Given the description of an element on the screen output the (x, y) to click on. 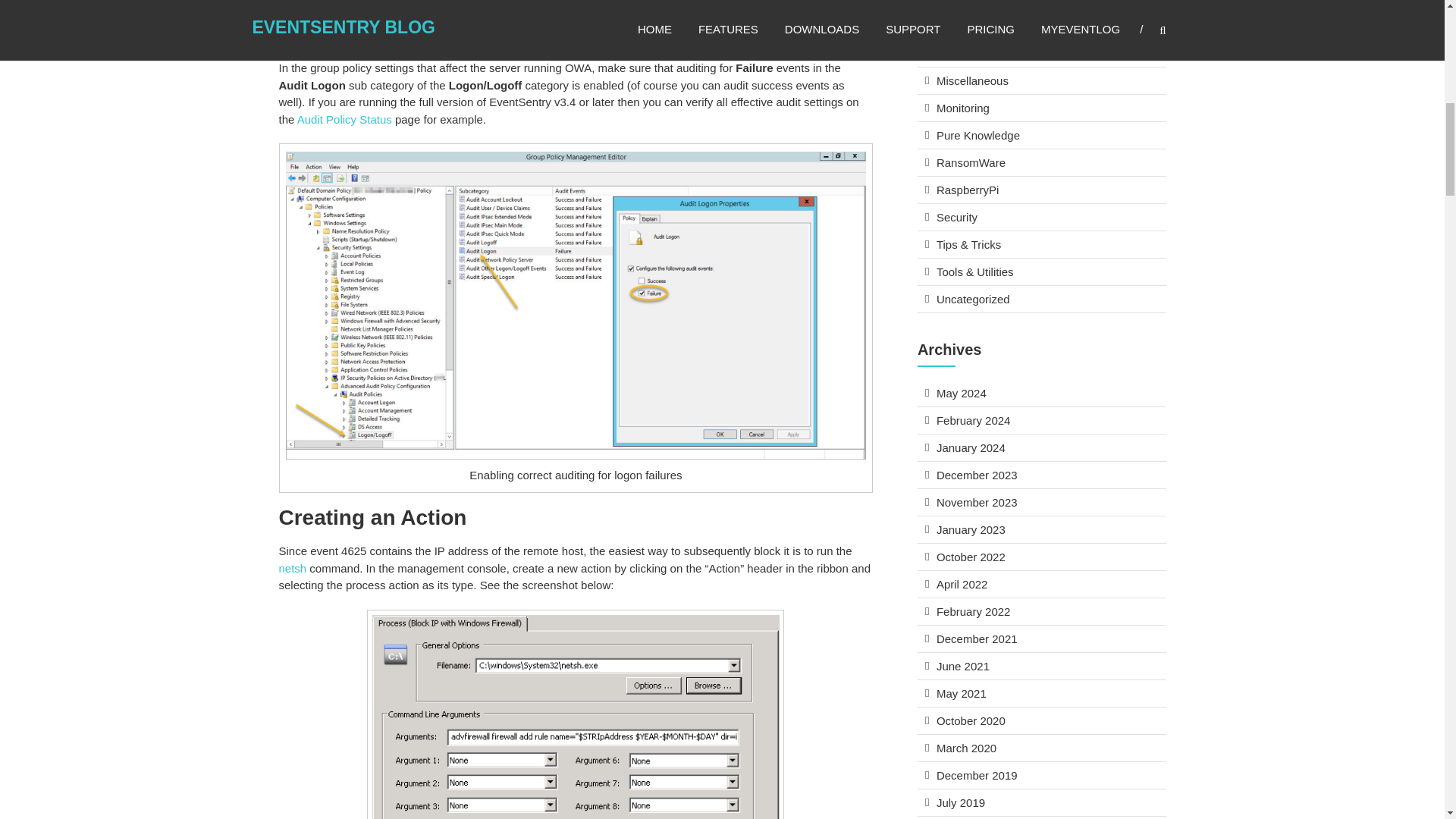
netsh (293, 567)
Audit Policy Status (344, 119)
